Given the description of an element on the screen output the (x, y) to click on. 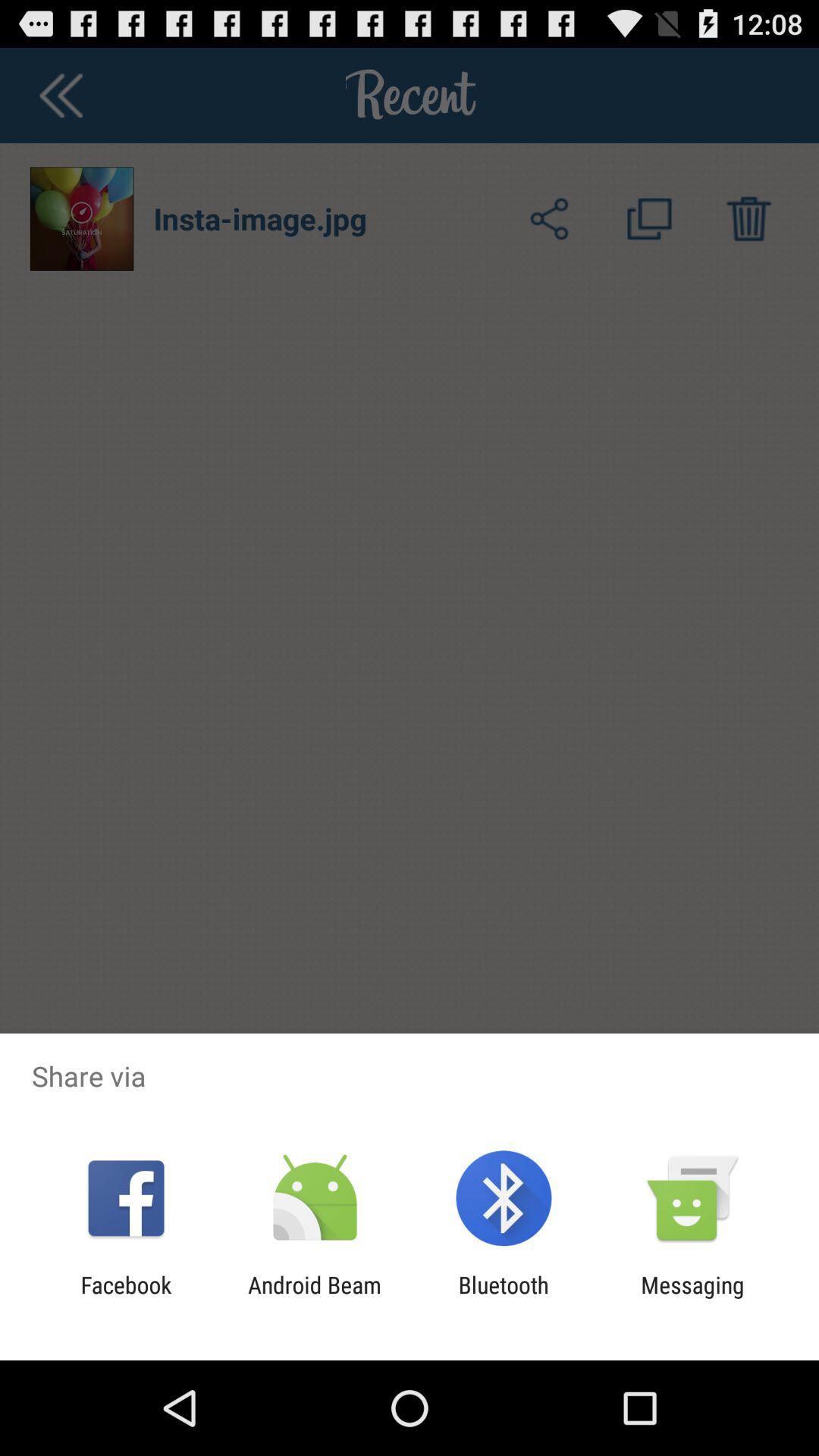
open item next to the messaging (503, 1298)
